Given the description of an element on the screen output the (x, y) to click on. 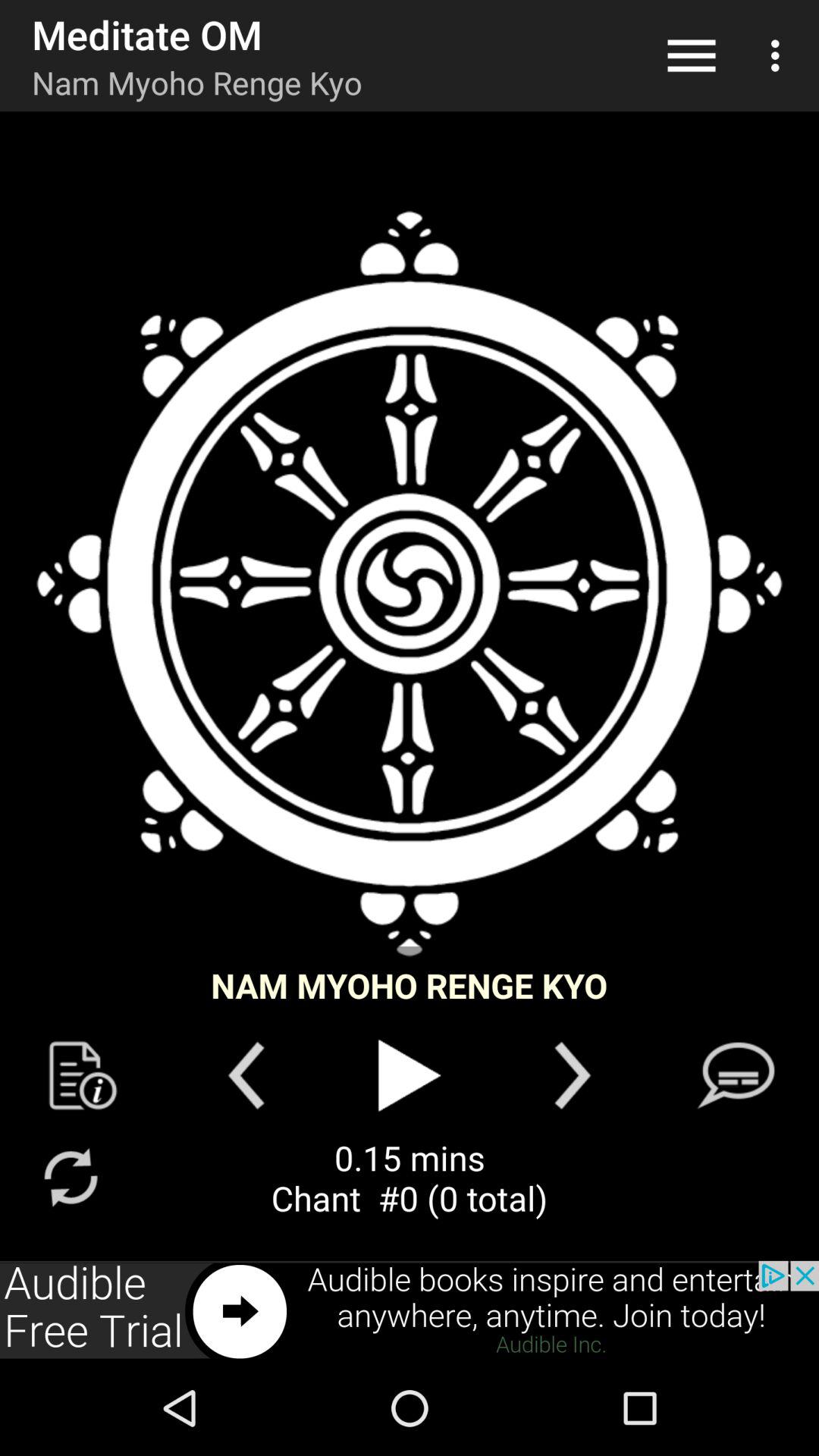
press to play (409, 1075)
